Given the description of an element on the screen output the (x, y) to click on. 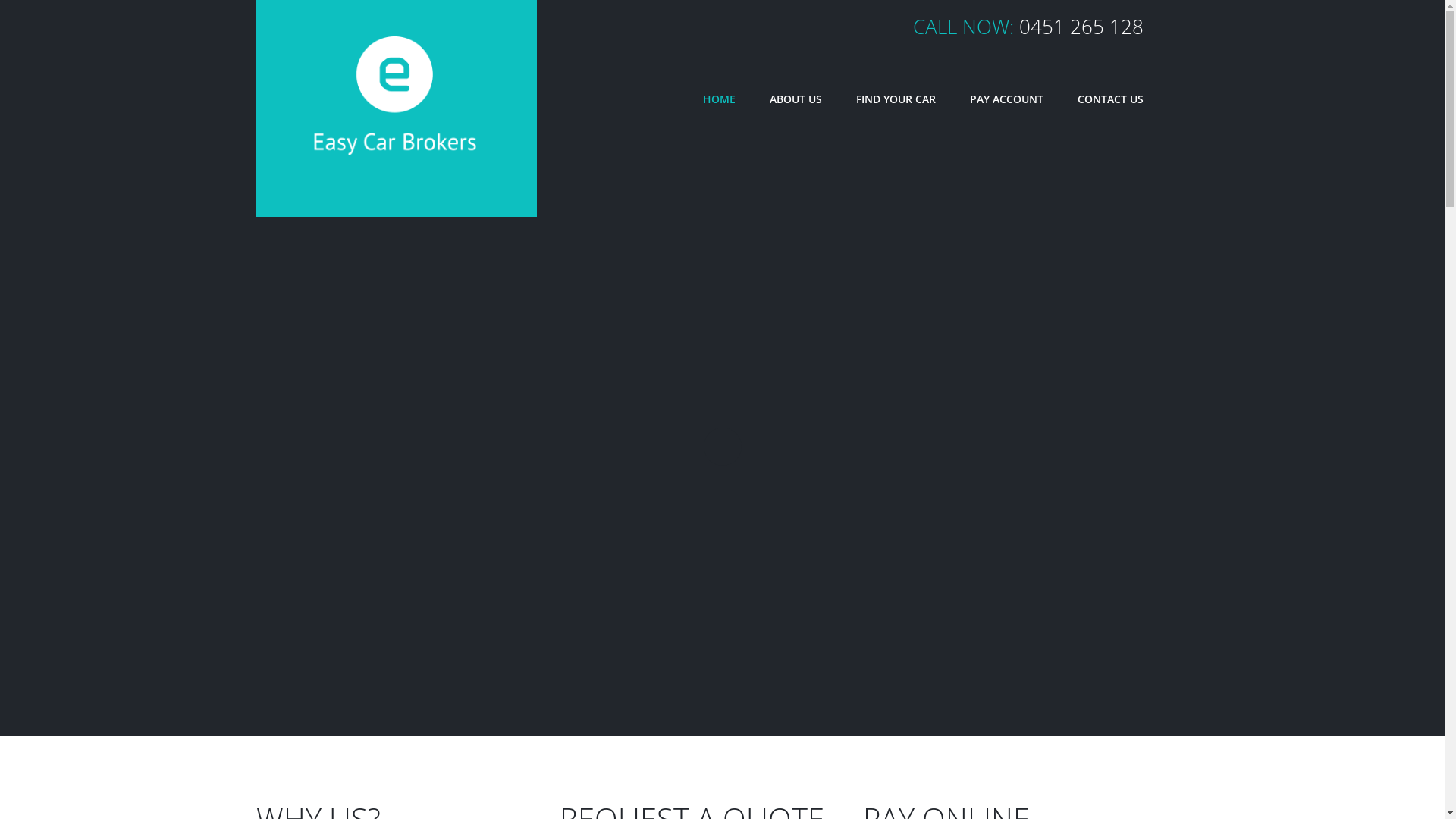
PAY ACCOUNT Element type: text (1005, 98)
HOME Element type: text (718, 98)
FIND YOUR CAR Element type: text (895, 98)
0451 265 128 Element type: text (1081, 26)
CONTACT US Element type: text (1109, 98)
ABOUT US Element type: text (794, 98)
